Given the description of an element on the screen output the (x, y) to click on. 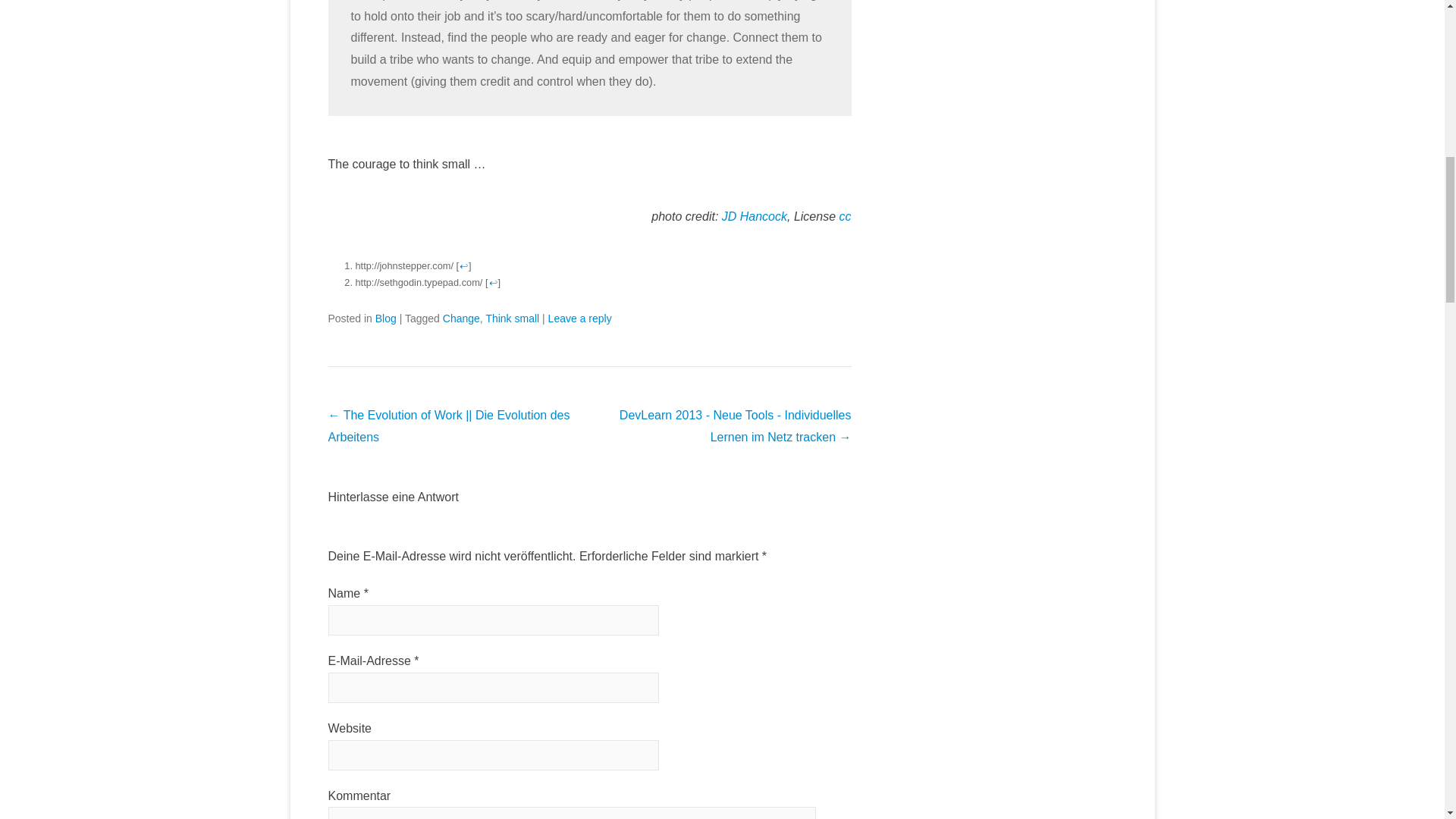
Alle Artikel in Blog ansehen (385, 318)
Leave a reply (579, 318)
Think small (511, 318)
JD Hancock (754, 215)
cc (844, 215)
Blog (385, 318)
Change (461, 318)
Kommentiere About Thinking Small (579, 318)
